Given the description of an element on the screen output the (x, y) to click on. 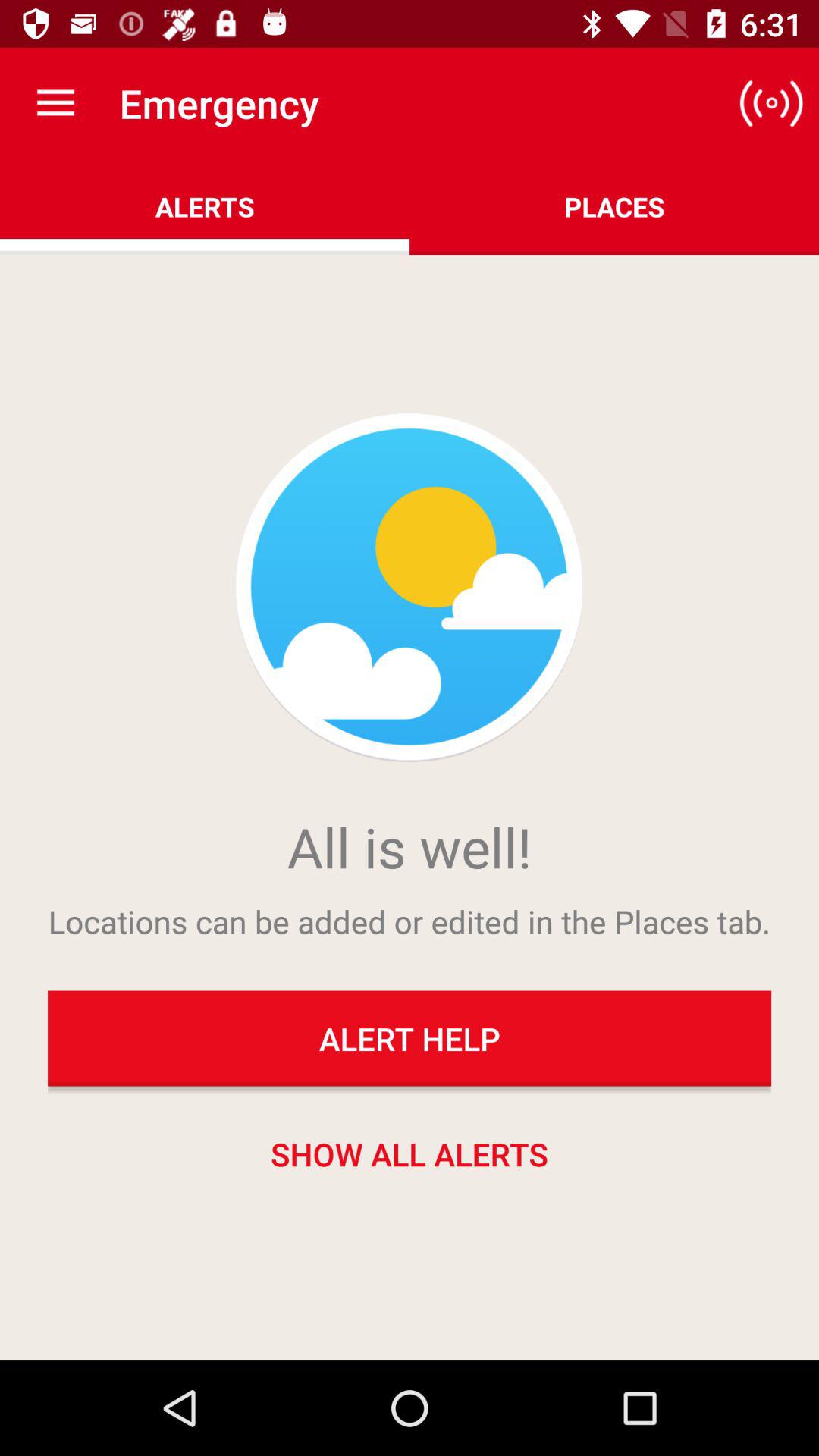
select the item next to emergency item (55, 103)
